Given the description of an element on the screen output the (x, y) to click on. 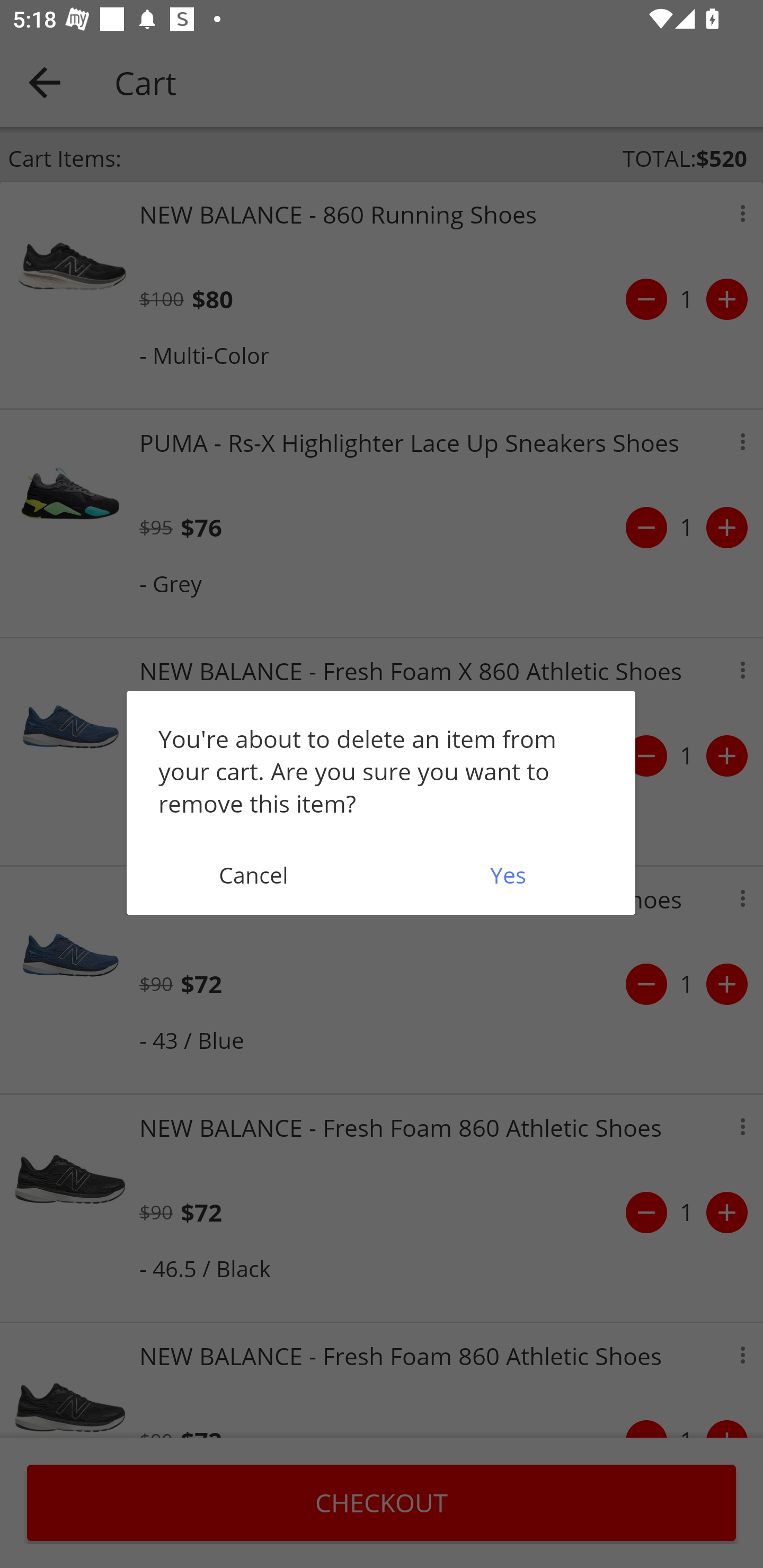
Cancel (253, 874)
Yes (507, 874)
